Given the description of an element on the screen output the (x, y) to click on. 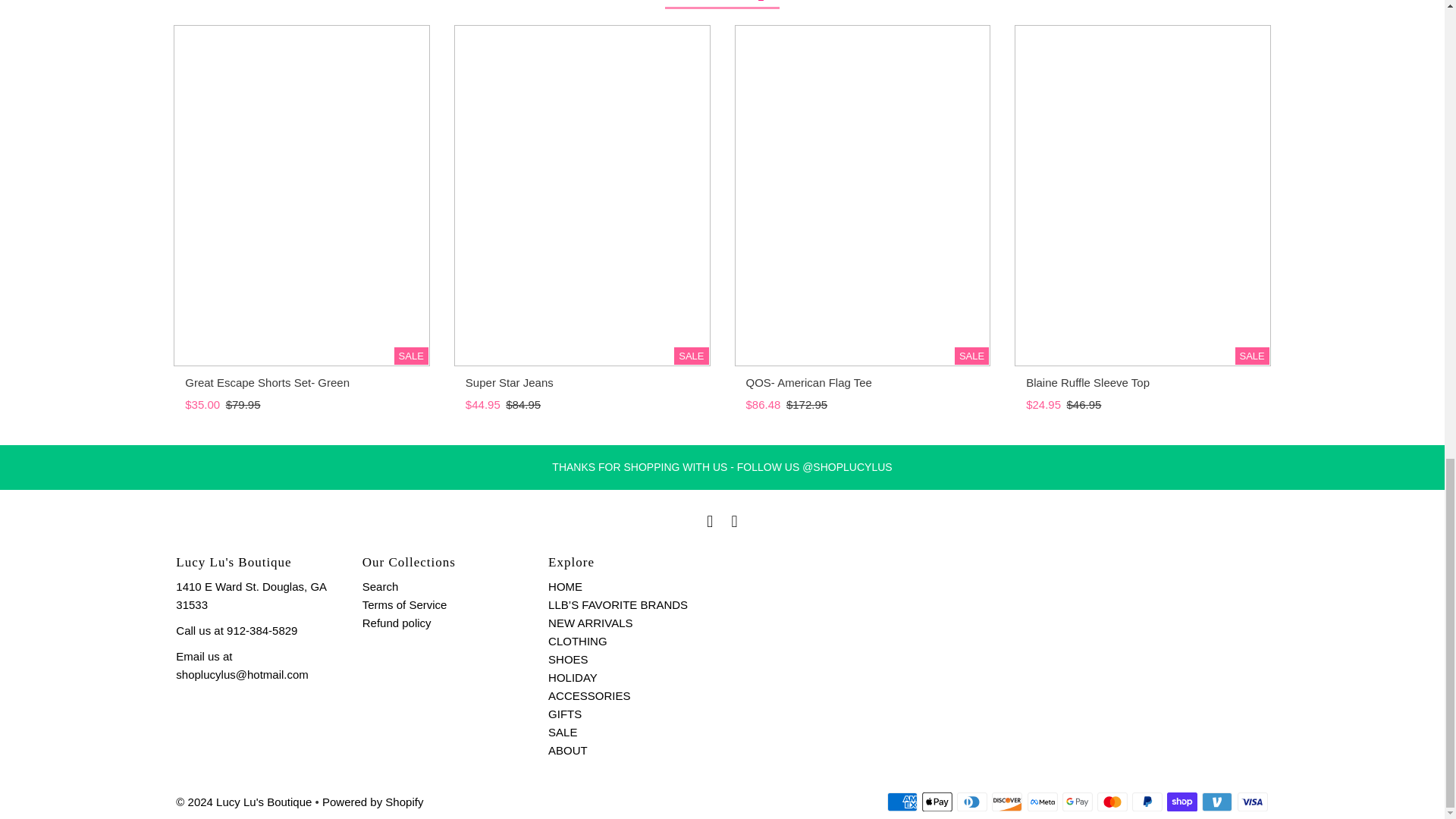
Discover (1006, 801)
Diners Club (971, 801)
Mastercard (1111, 801)
Shop Pay (1181, 801)
Venmo (1216, 801)
Visa (1252, 801)
American Express (901, 801)
Apple Pay (936, 801)
Meta Pay (1042, 801)
Google Pay (1077, 801)
PayPal (1146, 801)
